Given the description of an element on the screen output the (x, y) to click on. 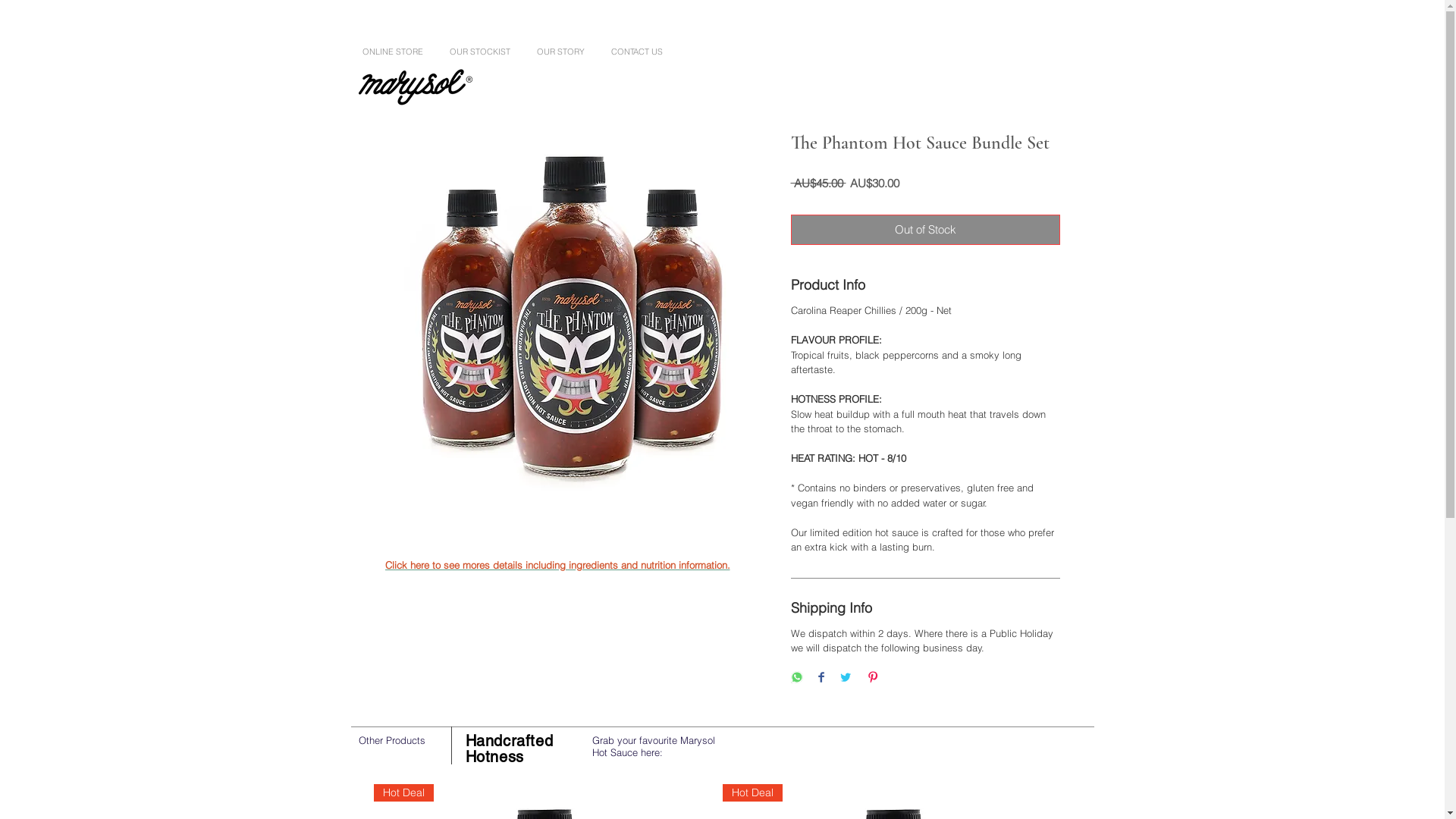
ONLINE STORE Element type: text (393, 51)
OUR STOCKIST Element type: text (481, 51)
OUR STORY Element type: text (561, 51)
Out of Stock Element type: text (924, 229)
CONTACT US Element type: text (637, 51)
